Given the description of an element on the screen output the (x, y) to click on. 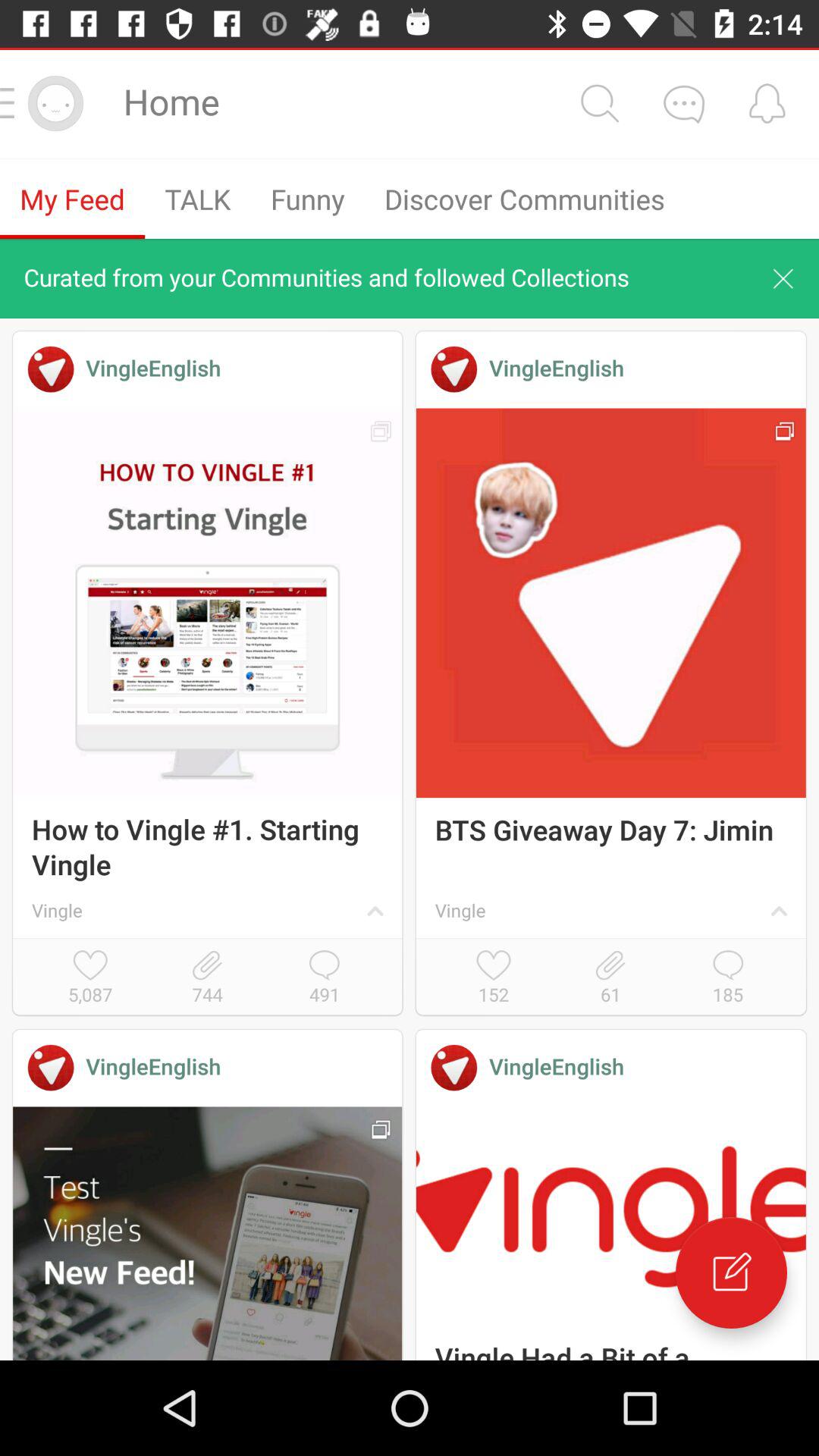
go to settings option (599, 103)
